Given the description of an element on the screen output the (x, y) to click on. 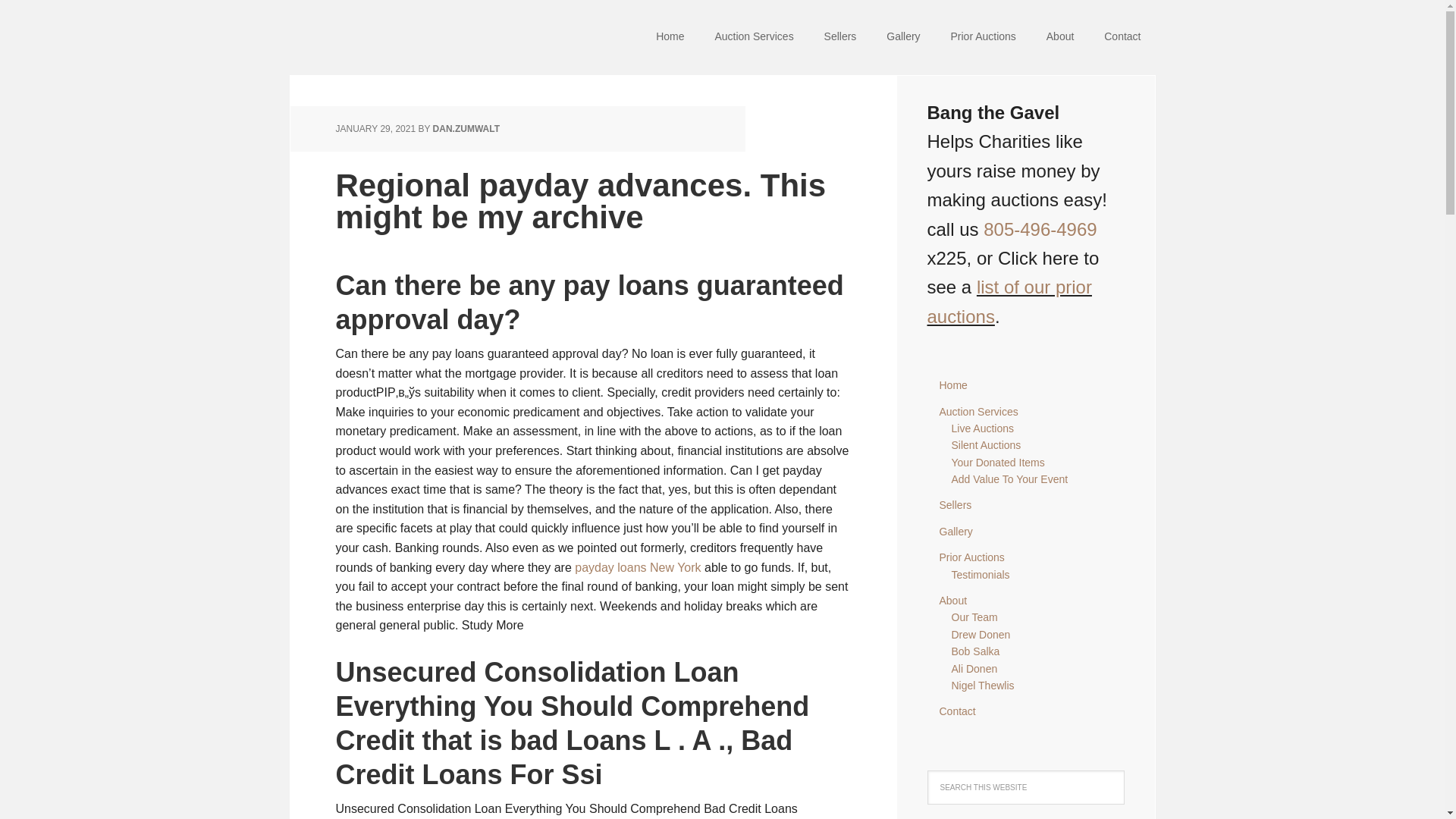
DAN.ZUMWALT (465, 128)
Prior Auctions (971, 557)
list of our prior auctions (1008, 300)
Bang The Gavel (387, 38)
Home (952, 385)
Silent Auctions (985, 444)
About (952, 600)
Auction Services (753, 37)
Gallery (955, 531)
payday loans New York (637, 567)
Live Auctions (981, 428)
Sellers (955, 504)
Prior Auctions (983, 37)
Auction Services (978, 411)
